Given the description of an element on the screen output the (x, y) to click on. 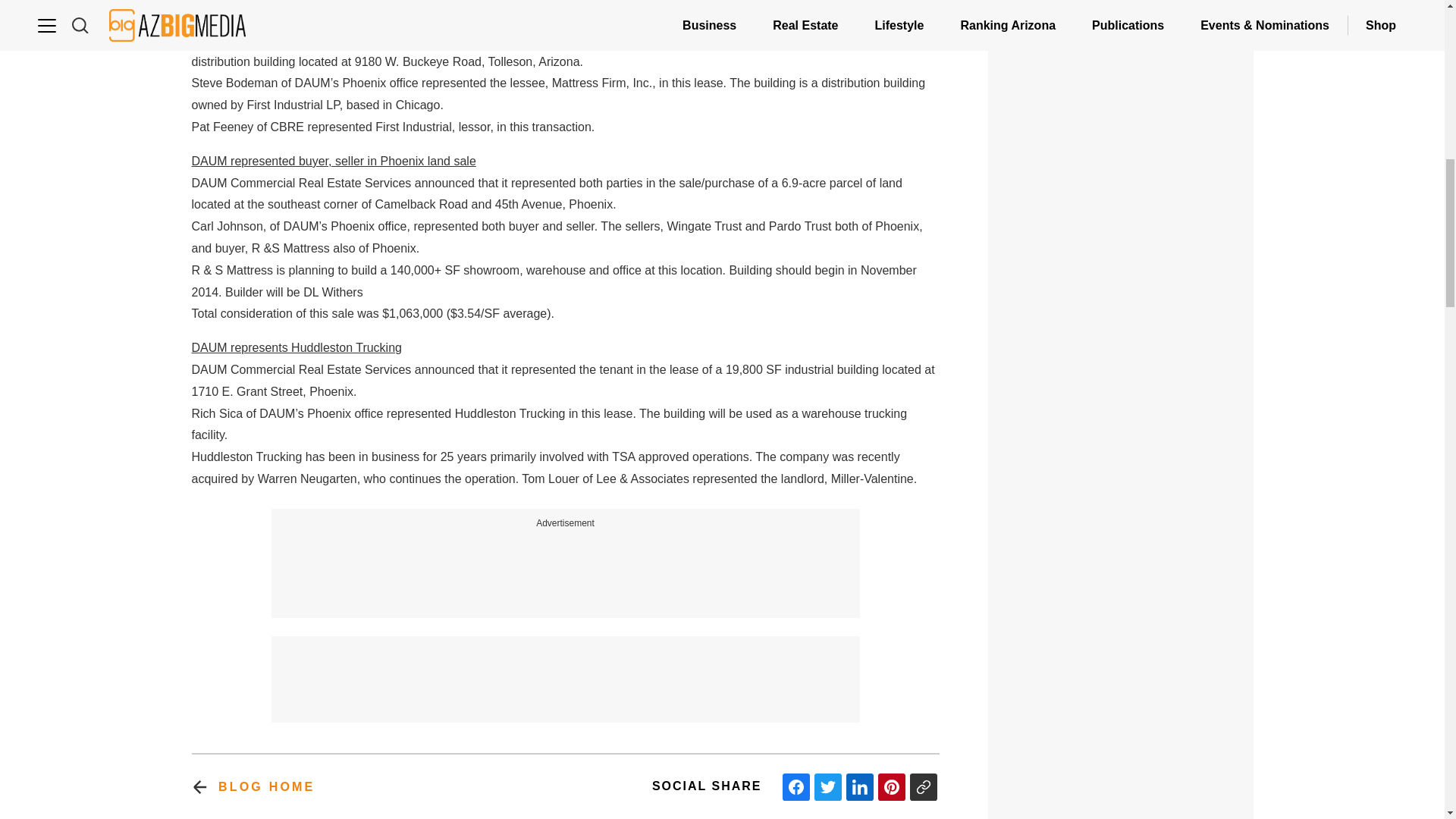
3rd party ad content (565, 670)
3rd party ad content (1120, 805)
3rd party ad content (565, 565)
3rd party ad content (1120, 678)
3rd party ad content (1120, 470)
